Given the description of an element on the screen output the (x, y) to click on. 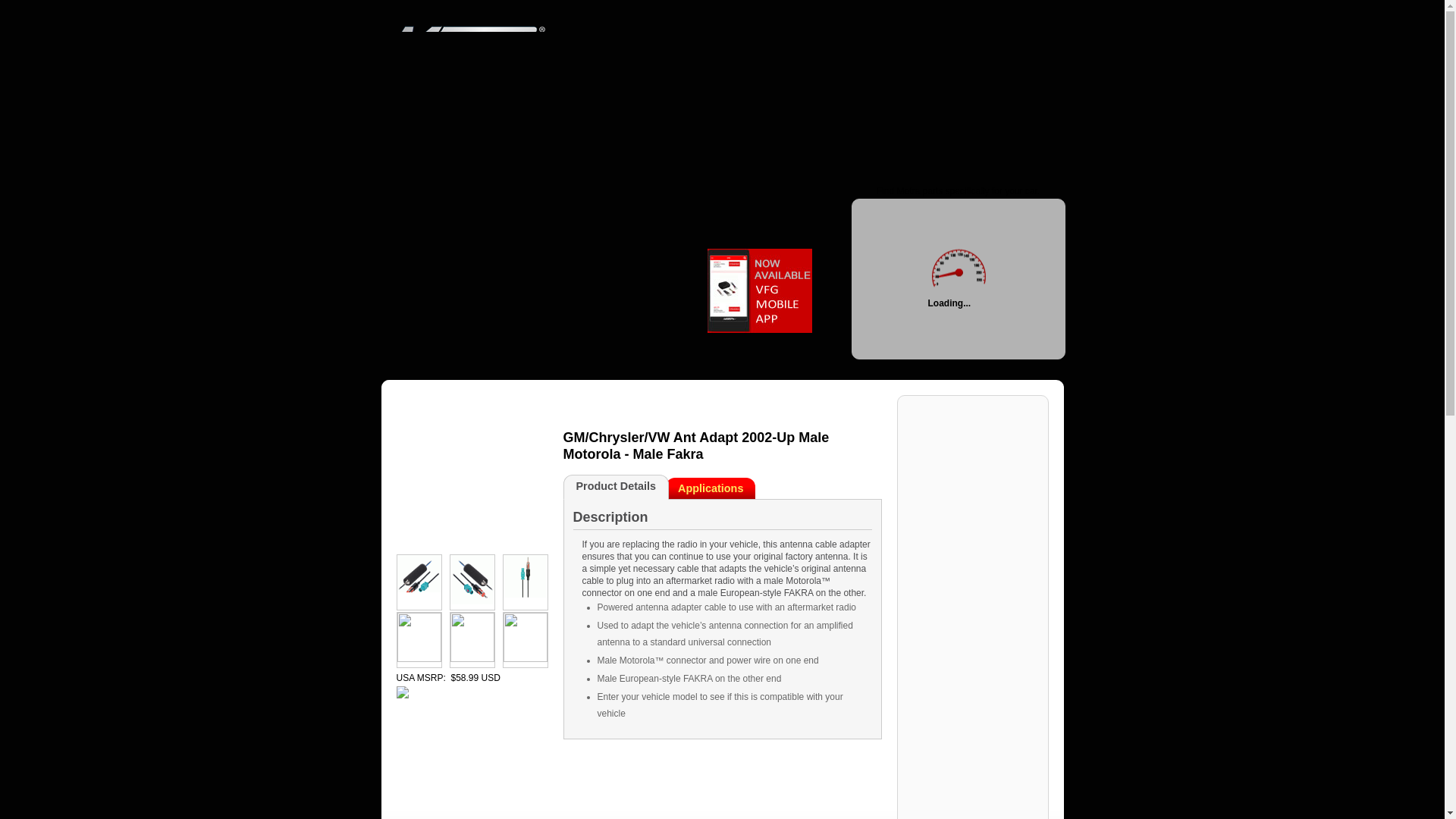
submit (1037, 100)
Metra Electronics Catalogs (534, 100)
Metra Electronics Brands (474, 100)
Become a Metra Parts Dealer (596, 100)
Metra Electronics (721, 40)
Metra Electronics Car Audio (721, 40)
submit (1037, 100)
Read latest Metra Electronics news (647, 100)
Browse Metra Electronics Products (413, 100)
